Given the description of an element on the screen output the (x, y) to click on. 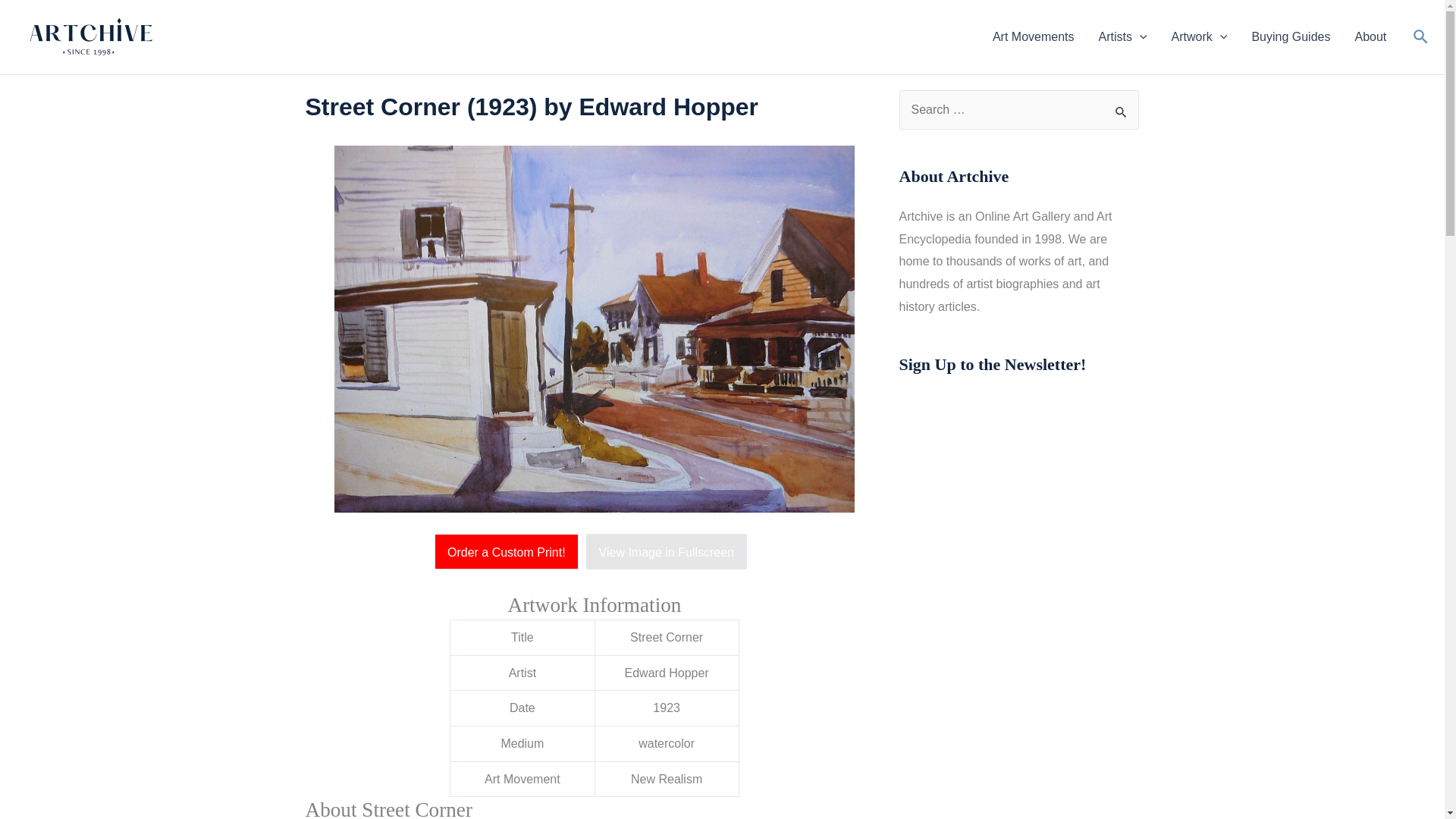
Artists (1122, 36)
Buying Guides (1290, 36)
Art Movements (1032, 36)
About (1369, 36)
Order a Custom Print! (509, 552)
Artwork (1199, 36)
